Given the description of an element on the screen output the (x, y) to click on. 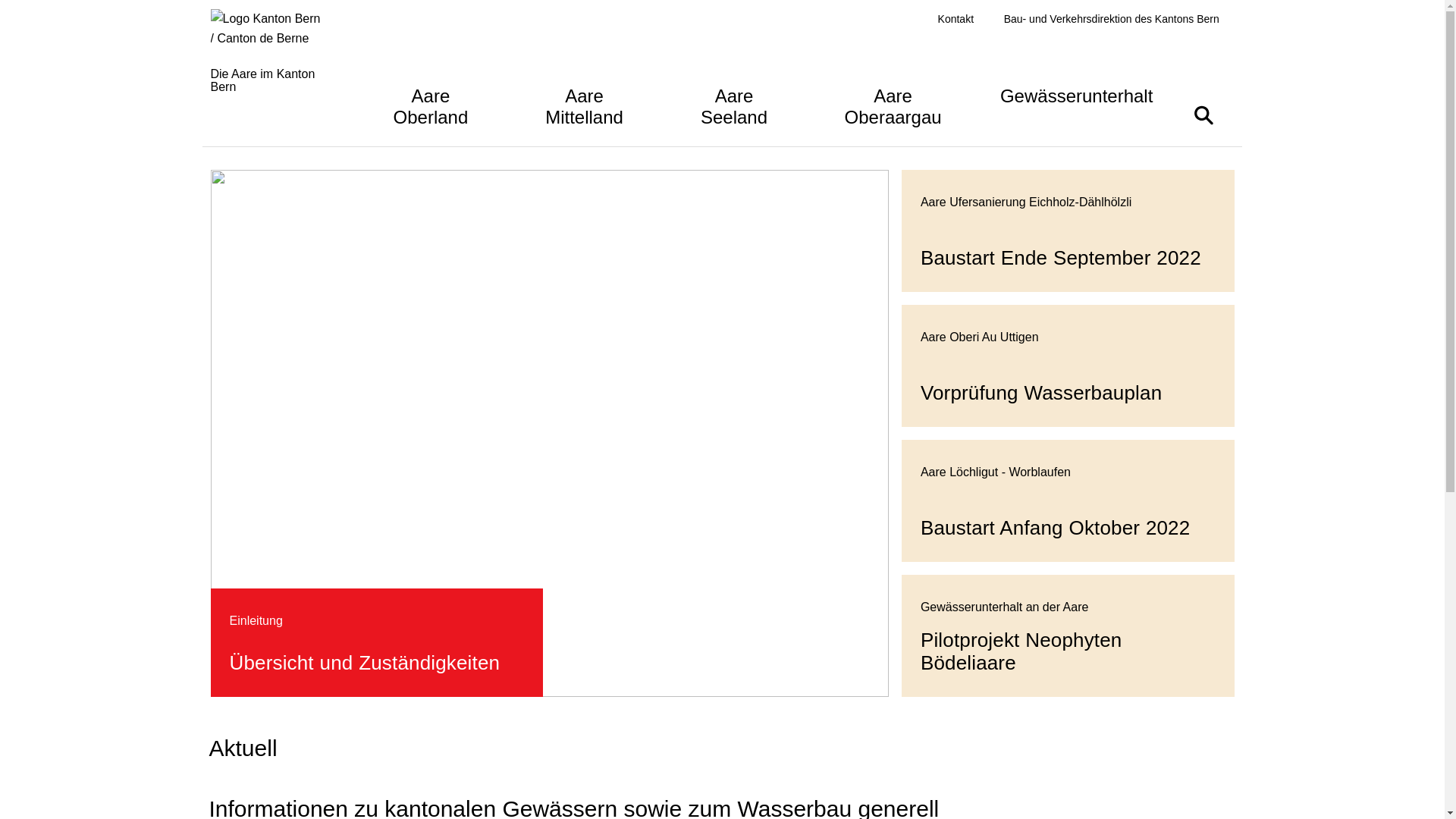
Aare Oberaargau Element type: text (892, 104)
Aare Seeland Element type: text (734, 104)
Kontakt Element type: text (955, 19)
Aare Mittelland Element type: text (583, 104)
Bau- und Verkehrsdirektion des Kantons Bern Element type: text (1111, 19)
Die Aare im Kanton Bern Element type: text (274, 68)
Aare Oberland Element type: text (430, 104)
Suche ein- oder ausblenden Element type: text (1203, 115)
